Given the description of an element on the screen output the (x, y) to click on. 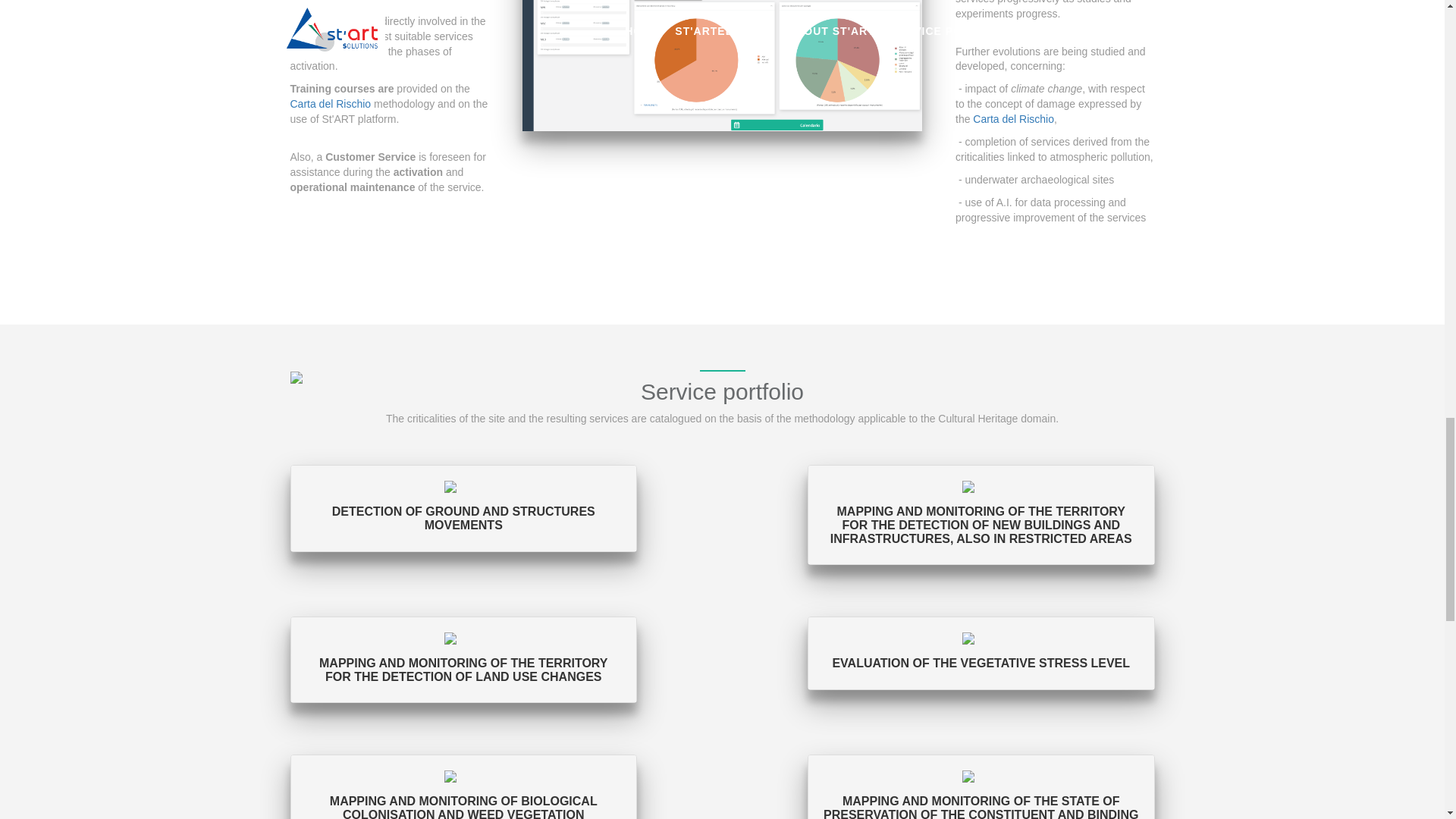
Carta del Rischio (1013, 119)
EVALUATION OF THE VEGETATIVE STRESS LEVEL (981, 653)
DETECTION OF GROUND AND STRUCTURES MOVEMENTS (463, 507)
Carta del Rischio (330, 103)
